Given the description of an element on the screen output the (x, y) to click on. 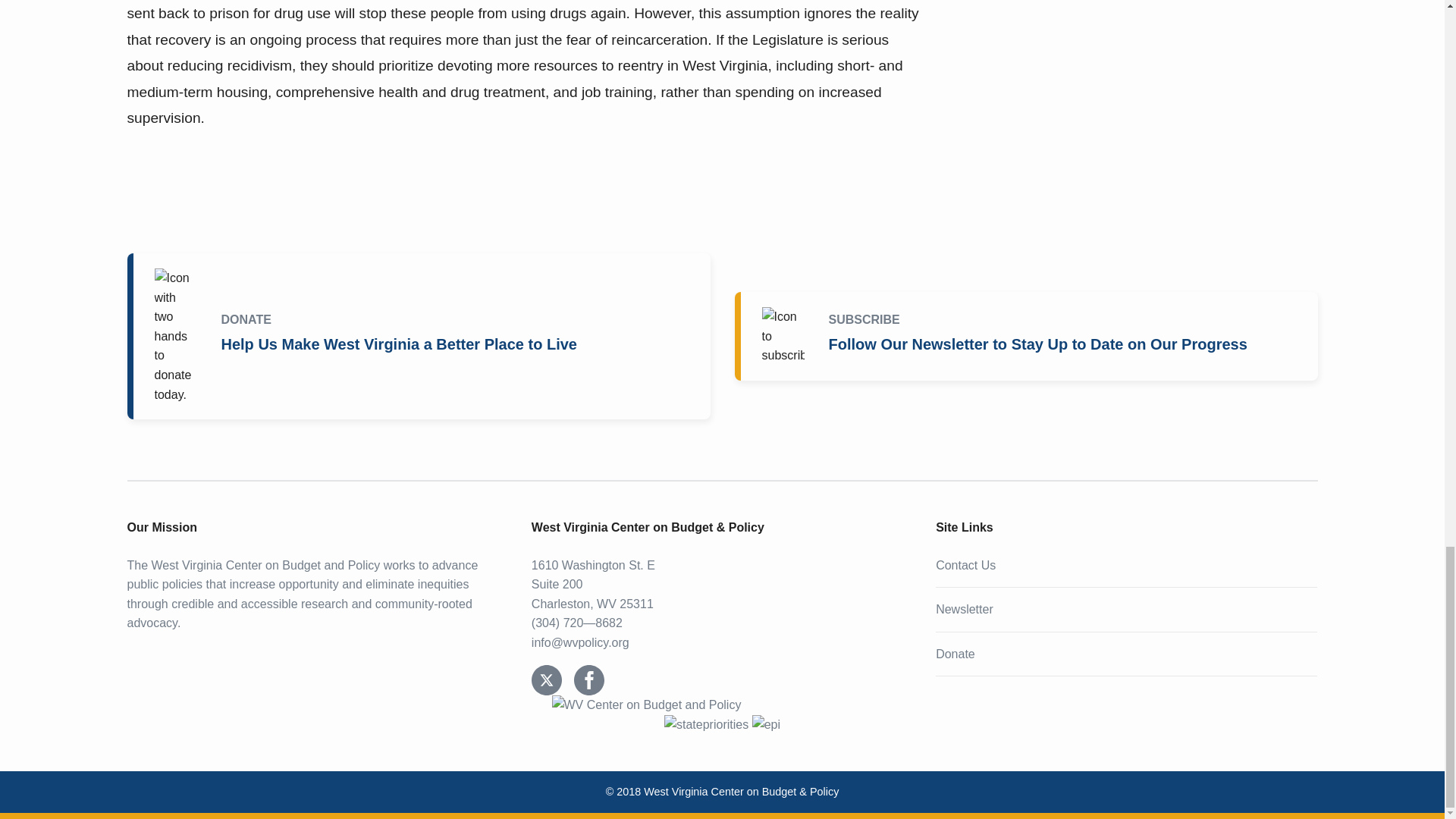
Email Us (579, 642)
Donate Today! (421, 336)
Follow us on Twitter (546, 680)
Subscribe Today! (1028, 335)
